Given the description of an element on the screen output the (x, y) to click on. 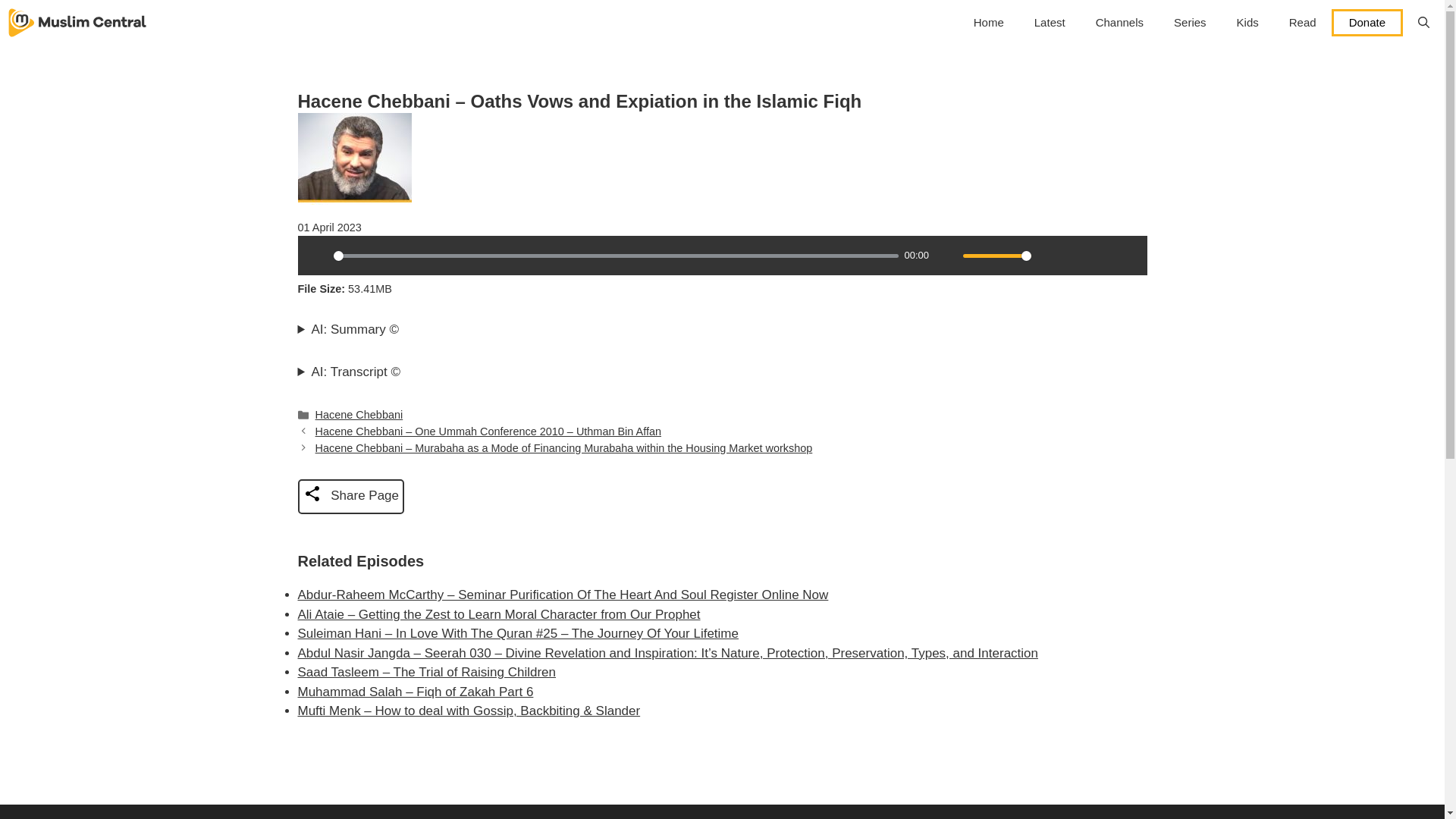
Channels (1119, 22)
Home (988, 22)
Play (316, 255)
Read (1303, 22)
0 (615, 255)
Settings (1048, 255)
Rewind 10s (1101, 255)
1 (996, 255)
Hacene Chebbani (359, 414)
Series (1189, 22)
Download (1074, 255)
Mute (946, 255)
Donate (1367, 22)
Muslim Central (77, 22)
Forward 10s (1126, 255)
